Given the description of an element on the screen output the (x, y) to click on. 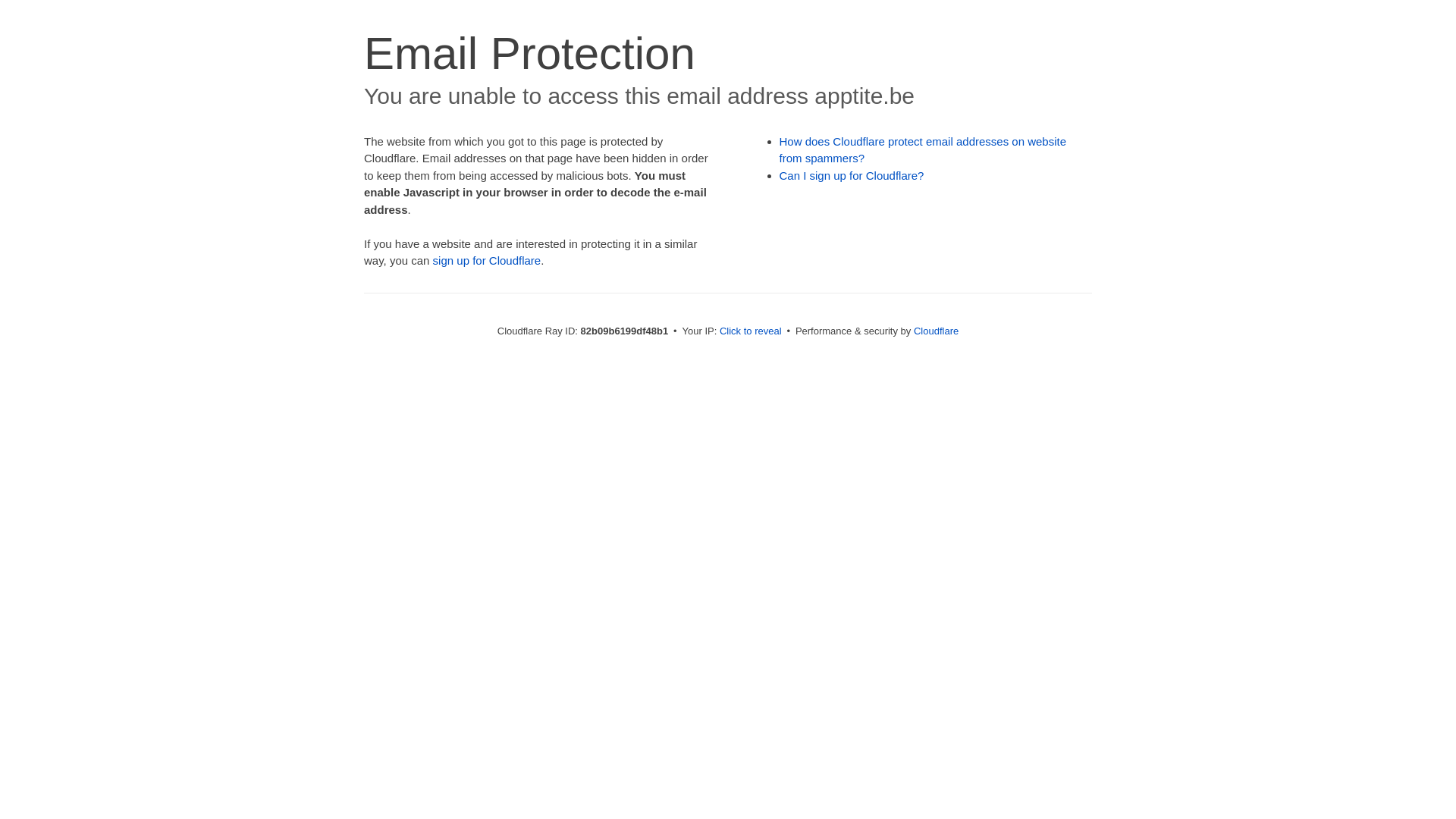
Click to reveal Element type: text (750, 330)
Cloudflare Element type: text (935, 330)
sign up for Cloudflare Element type: text (487, 260)
Can I sign up for Cloudflare? Element type: text (851, 175)
